Given the description of an element on the screen output the (x, y) to click on. 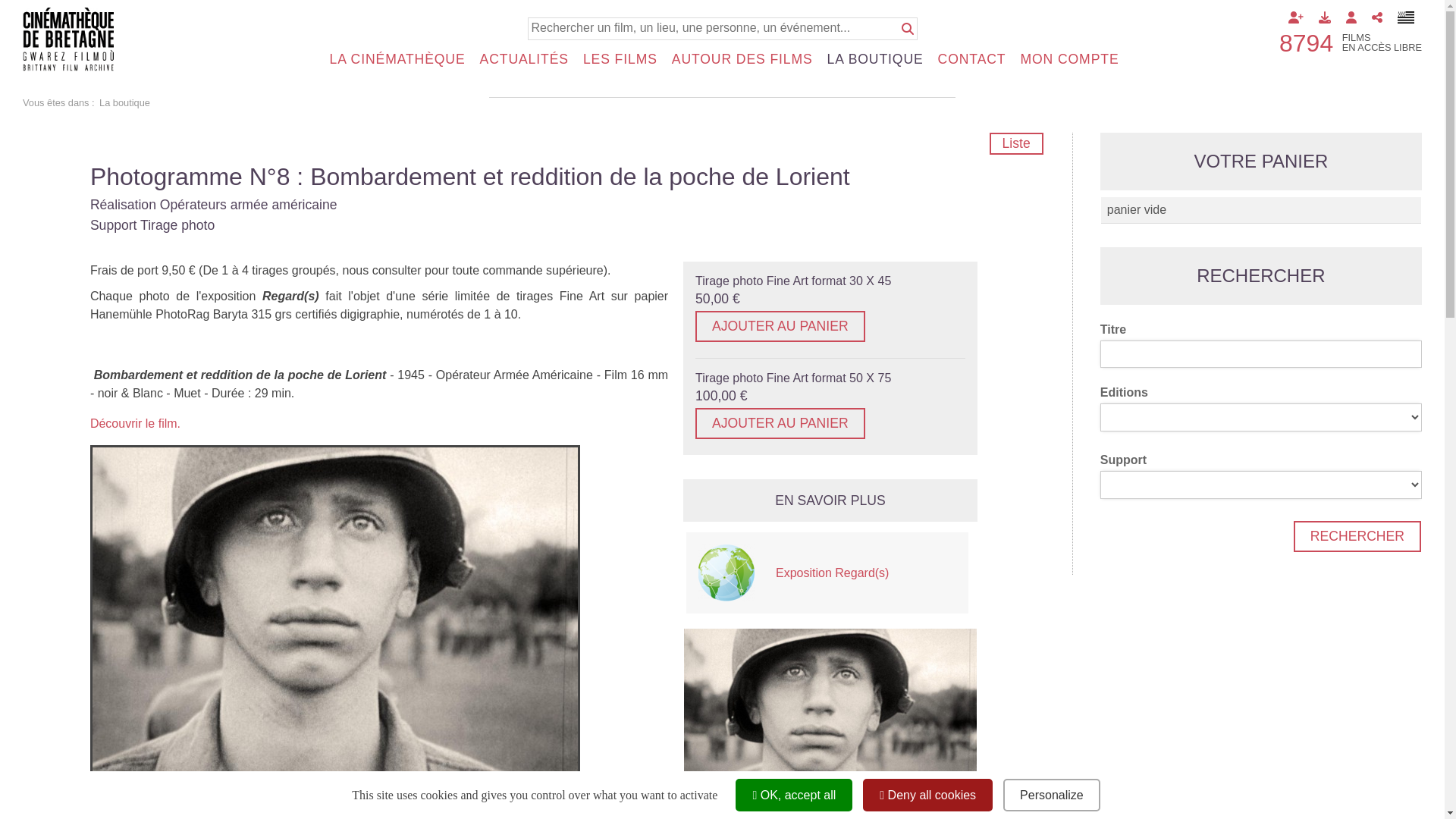
Personalize Element type: text (1051, 794)
LES FILMS Element type: text (622, 59)
Liste Element type: text (1021, 143)
OK, accept all Element type: text (793, 794)
LA BOUTIQUE Element type: text (877, 59)
Rechercher Element type: hover (906, 28)
Exposition Regard(s) Element type: text (865, 573)
Brezhoneg Element type: hover (1405, 17)
La boutique Element type: text (124, 102)
Partager Element type: hover (1376, 17)
AUTOUR DES FILMS Element type: text (744, 59)
Liste Element type: text (1016, 143)
AJOUTER AU PANIER Element type: text (780, 423)
RECHERCHER Element type: text (1357, 536)
Deny all cookies Element type: text (927, 794)
CONTACT Element type: text (974, 59)
S'identifier Element type: hover (1350, 17)
8794 Element type: text (1306, 42)
AJOUTER AU PANIER Element type: text (780, 326)
MON COMPTE Element type: text (1072, 59)
